Given the description of an element on the screen output the (x, y) to click on. 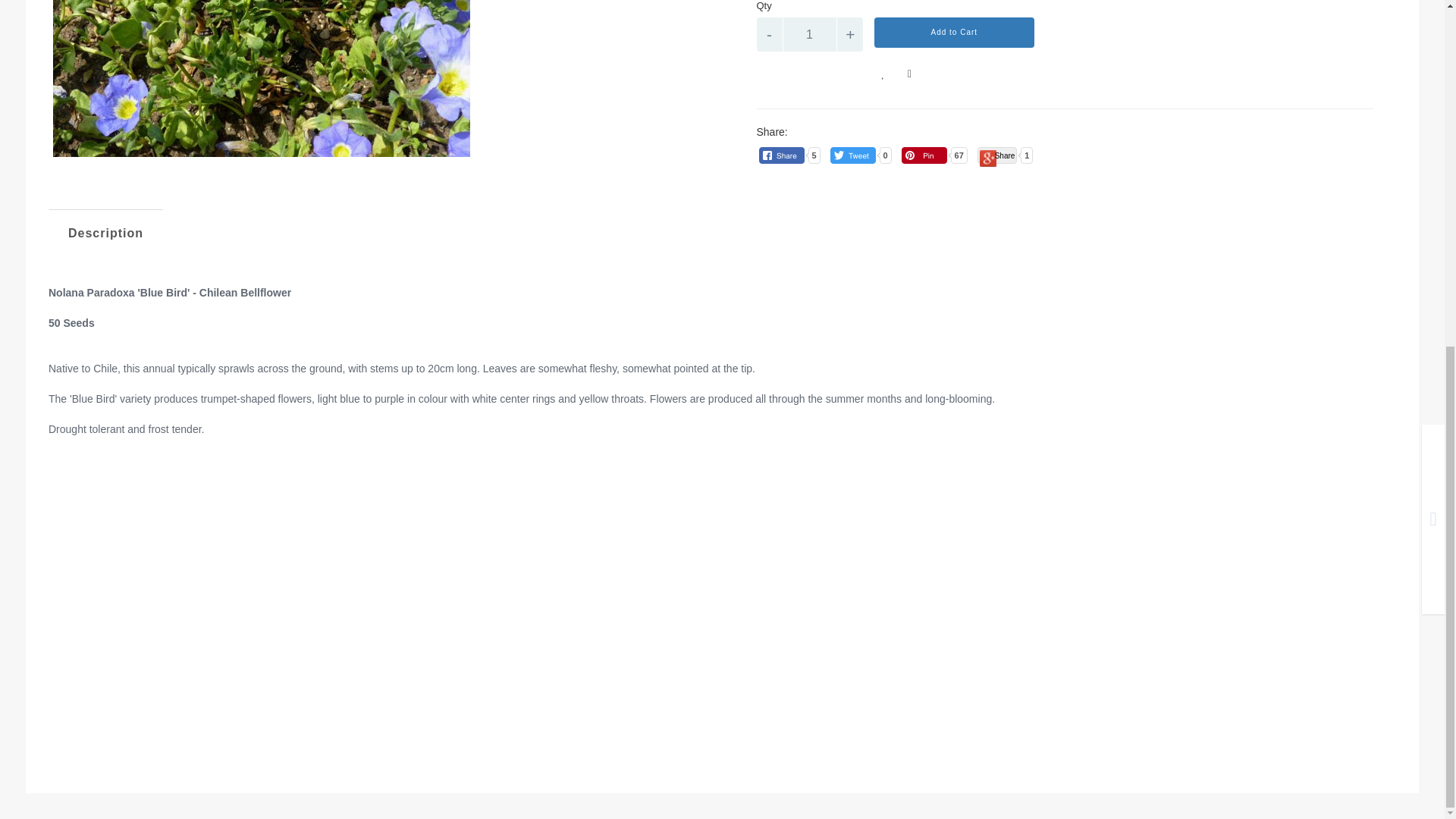
1 (809, 34)
Nolana Paradoxa 'Blue Bird' - 50 Seeds - Chilean Bellflower (261, 80)
Nolana Paradoxa 'Blue Bird' - 50 Seeds - Chilean Bellflower (379, 80)
Add to Cart (953, 31)
 -  (770, 34)
